Given the description of an element on the screen output the (x, y) to click on. 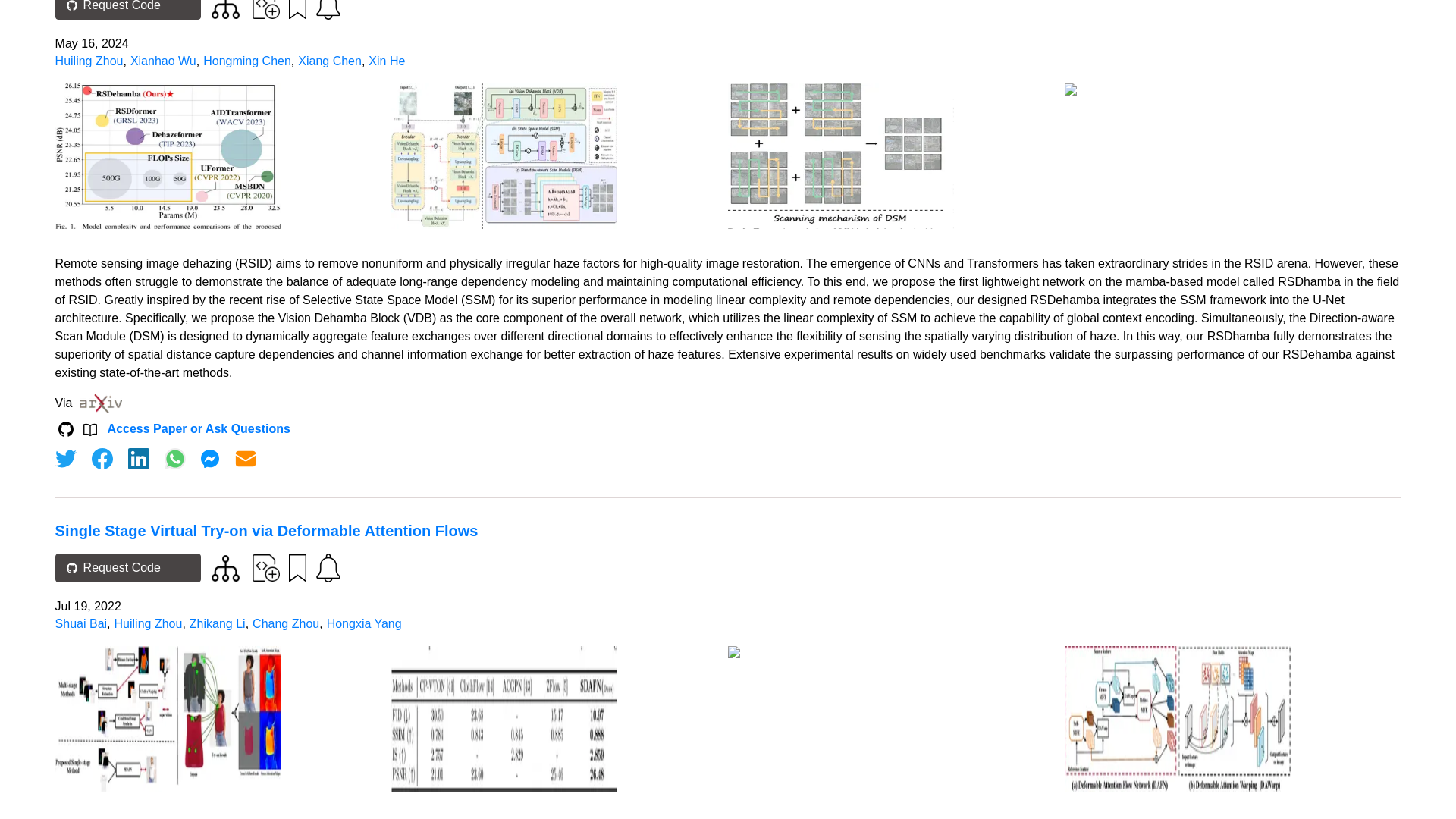
Xin He (386, 60)
Request Code (127, 9)
Huiling Zhou (89, 60)
View code for similar papers (225, 9)
View code for similar papers (225, 568)
Contribute your code for this paper to the community (265, 9)
Xianhao Wu (163, 60)
Share via Email (245, 458)
Contribute your code for this paper to the community (265, 567)
Xiang Chen (329, 60)
Access Paper or Ask Questions (198, 428)
Bookmark this paper (295, 11)
Hongming Chen (247, 60)
